Given the description of an element on the screen output the (x, y) to click on. 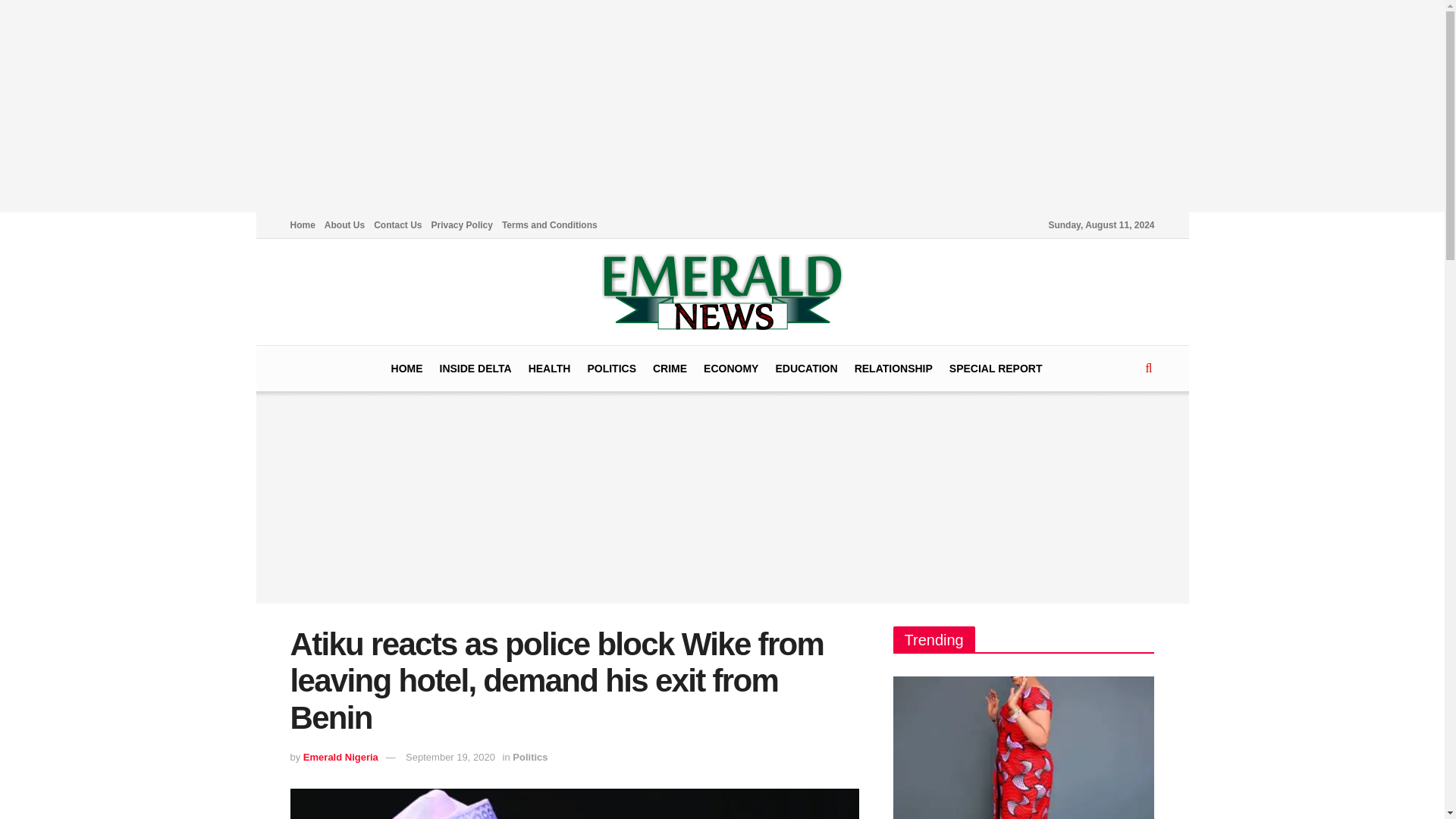
Terms and Conditions (549, 225)
Emerald Nigeria (340, 756)
Contact Us (398, 225)
SPECIAL REPORT (995, 368)
RELATIONSHIP (893, 368)
HOME (407, 368)
EDUCATION (805, 368)
Privacy Policy (461, 225)
HEALTH (549, 368)
